Given the description of an element on the screen output the (x, y) to click on. 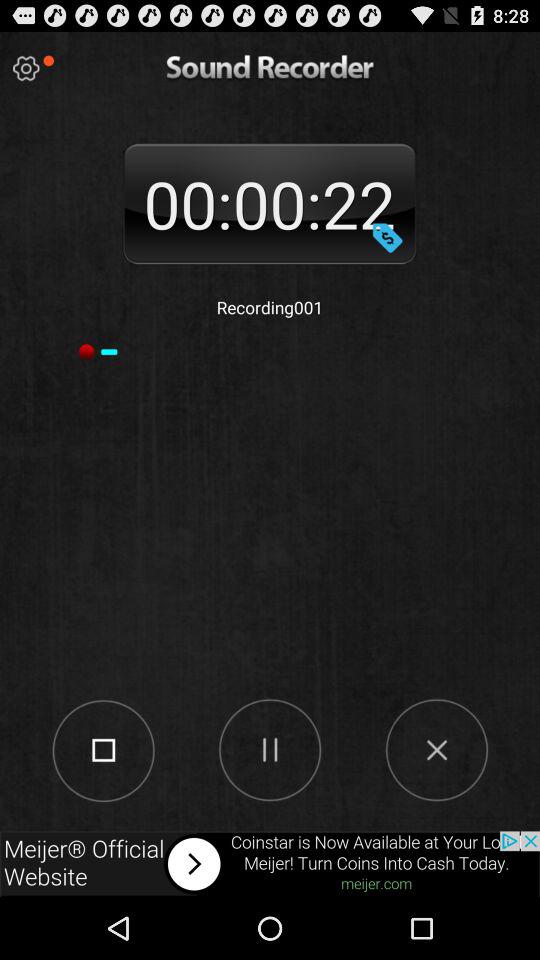
click prize button (387, 237)
